Given the description of an element on the screen output the (x, y) to click on. 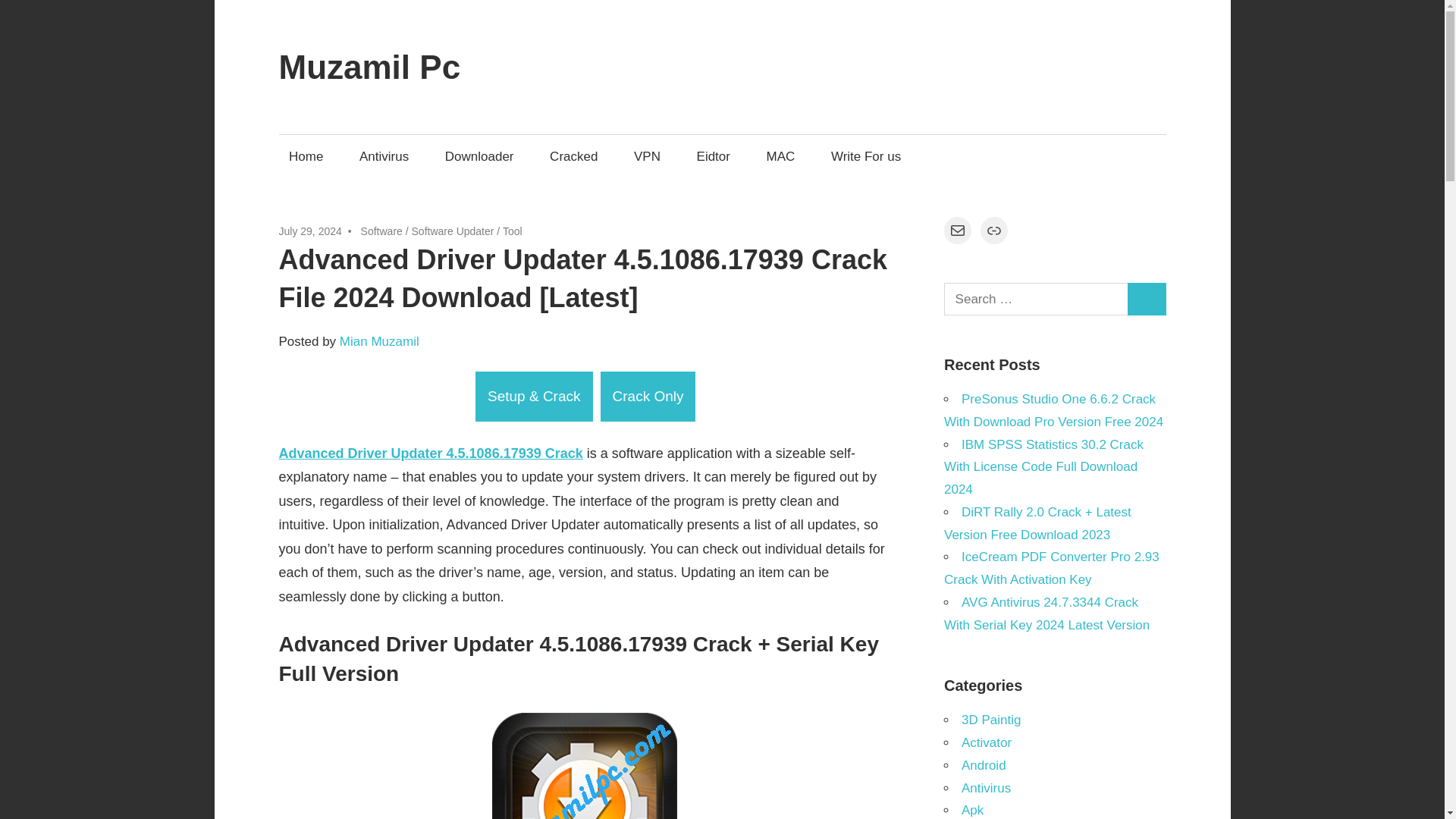
Muzamil Pc (370, 66)
1:25 am (310, 231)
Tool (512, 231)
Antivirus (384, 156)
Downloader (478, 156)
Mian Muzamil (379, 341)
Write For us (866, 156)
Software (382, 231)
Cracked (574, 156)
Search for: (1035, 298)
